Given the description of an element on the screen output the (x, y) to click on. 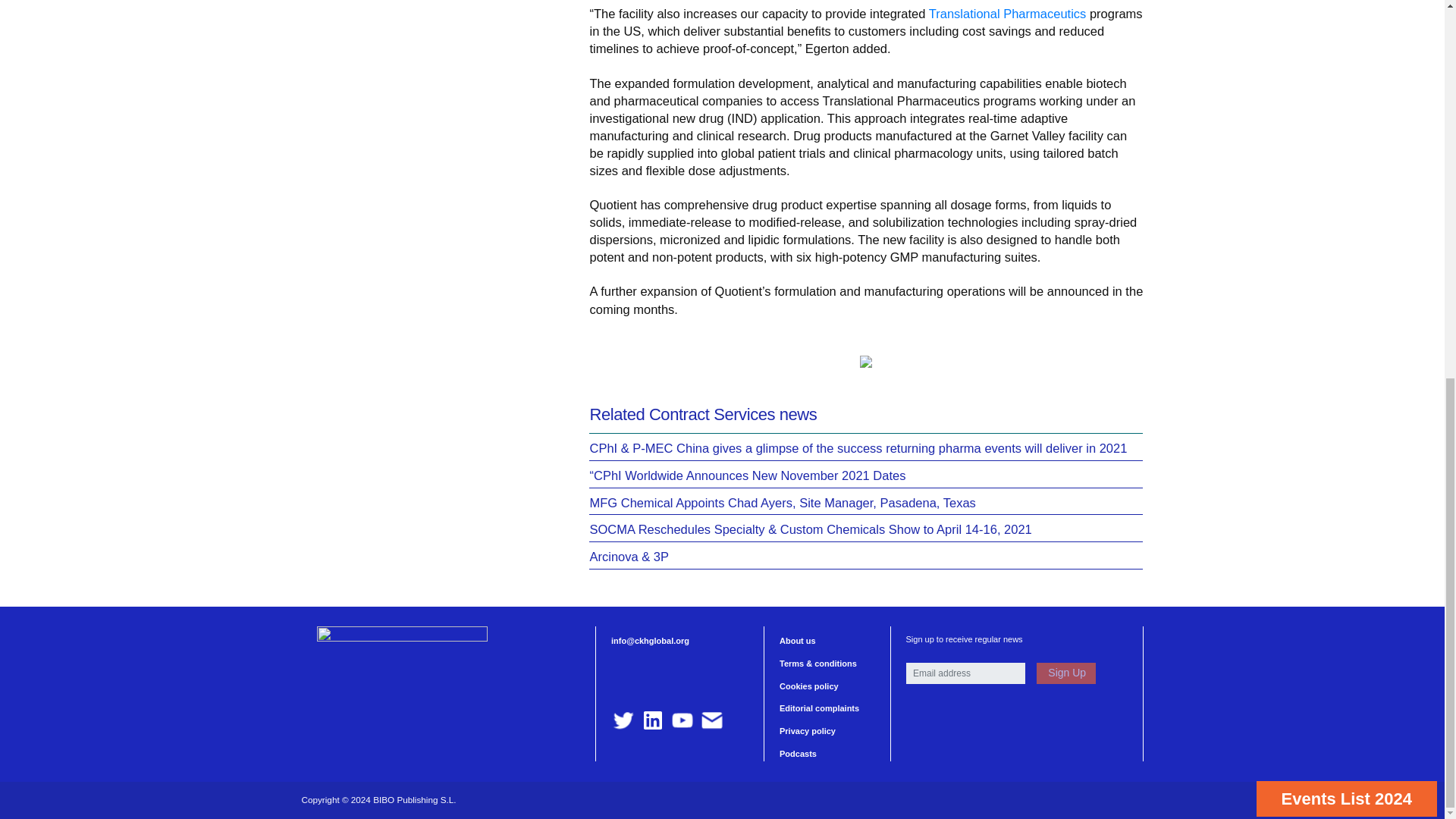
email (711, 720)
About us (796, 640)
Sign Up (1065, 672)
Editorial complaints (818, 707)
youtube (681, 720)
Cookies policy (808, 686)
Privacy policy (806, 730)
Events List 2024 (1346, 99)
linkedin (652, 720)
Podcasts (797, 753)
Translational Pharmaceutics (1007, 13)
twitter (622, 720)
Sign Up (1065, 672)
